Given the description of an element on the screen output the (x, y) to click on. 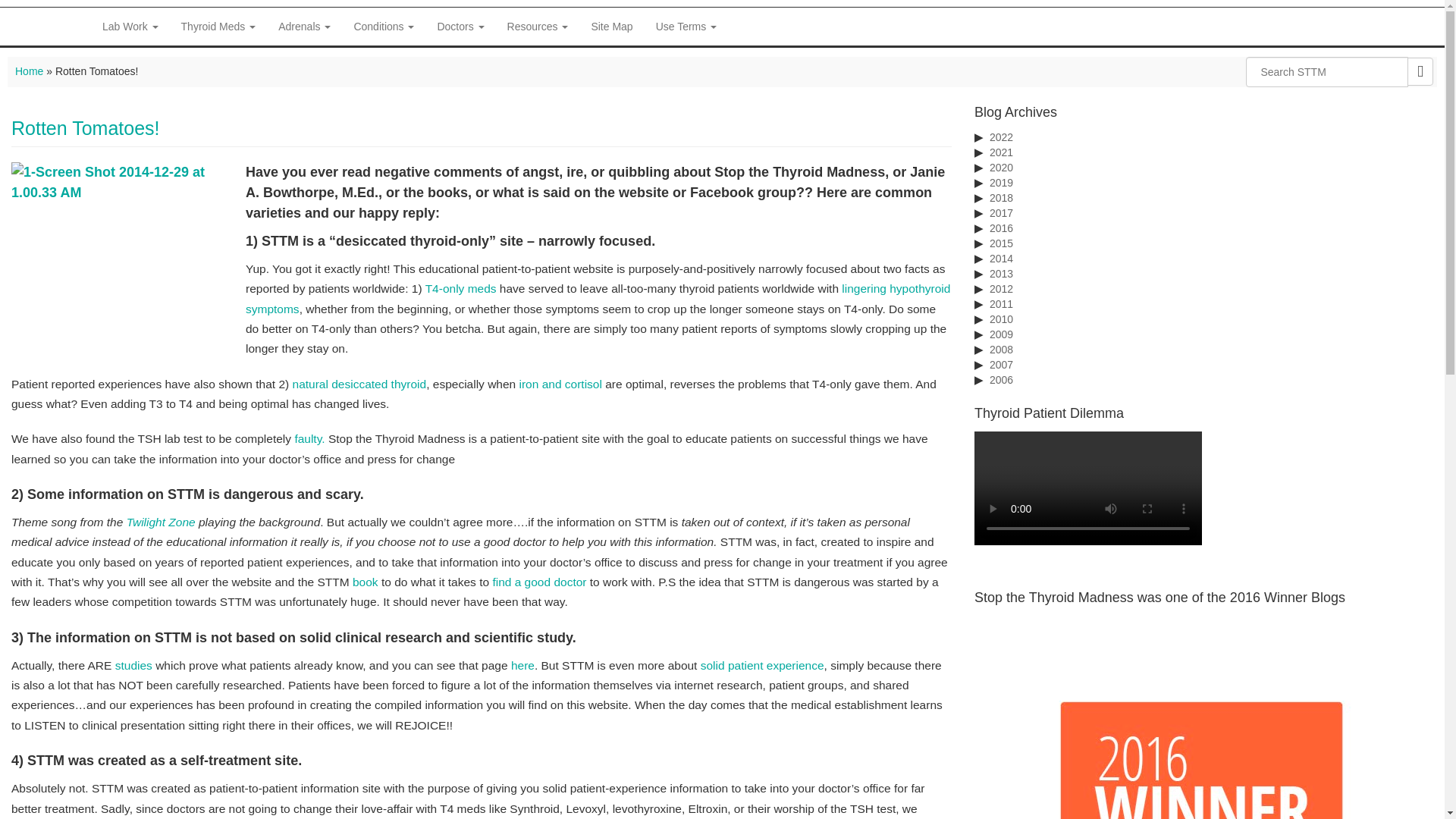
Thyroid Meds (218, 26)
Doctors (460, 26)
Conditions (383, 26)
Resources (537, 26)
Adrenals (304, 26)
Lab Work (130, 26)
Skip to Main Content (49, 6)
